Given the description of an element on the screen output the (x, y) to click on. 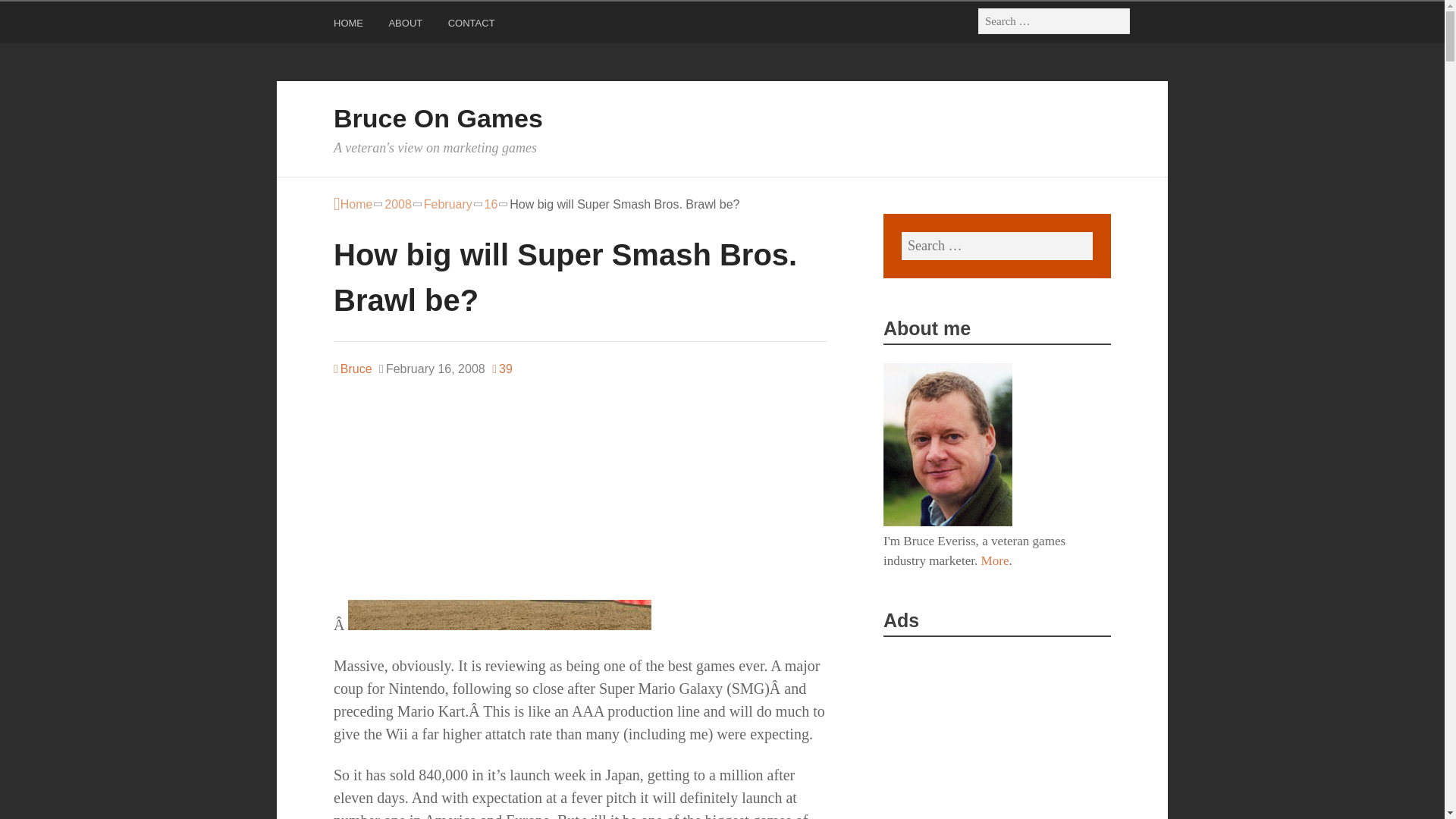
Bruce On Games (438, 118)
Posts by Bruce (352, 368)
2008 (398, 204)
February (447, 204)
CONTACT (473, 26)
Home (352, 204)
HOME (349, 26)
39 (502, 369)
Search (30, 15)
Saturday, February 16, 2008, 7:46 am (431, 369)
Bruce (352, 368)
ABOUT (407, 26)
